Given the description of an element on the screen output the (x, y) to click on. 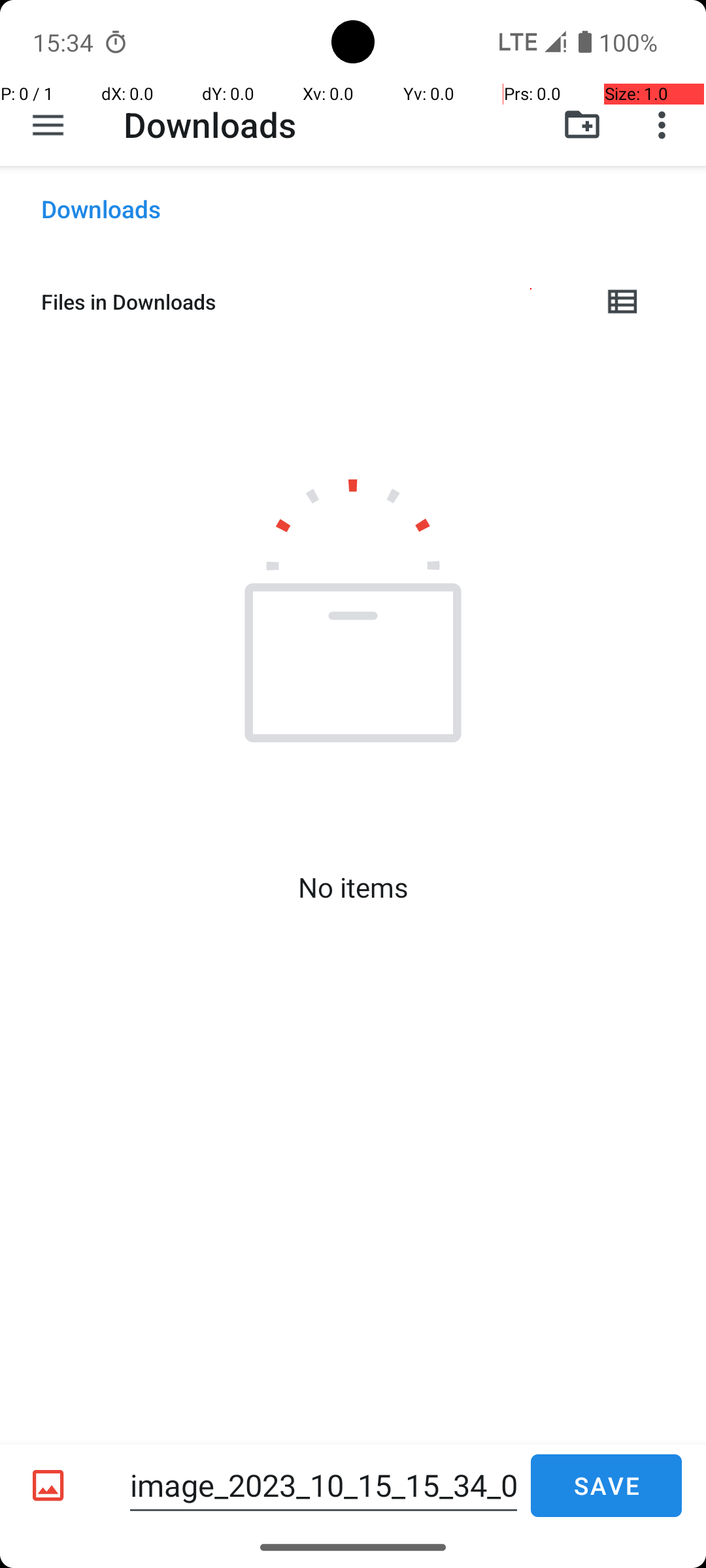
New folder Element type: android.widget.TextView (581, 124)
image_2023_10_15_15_34_08.png Element type: android.widget.EditText (323, 1485)
